Given the description of an element on the screen output the (x, y) to click on. 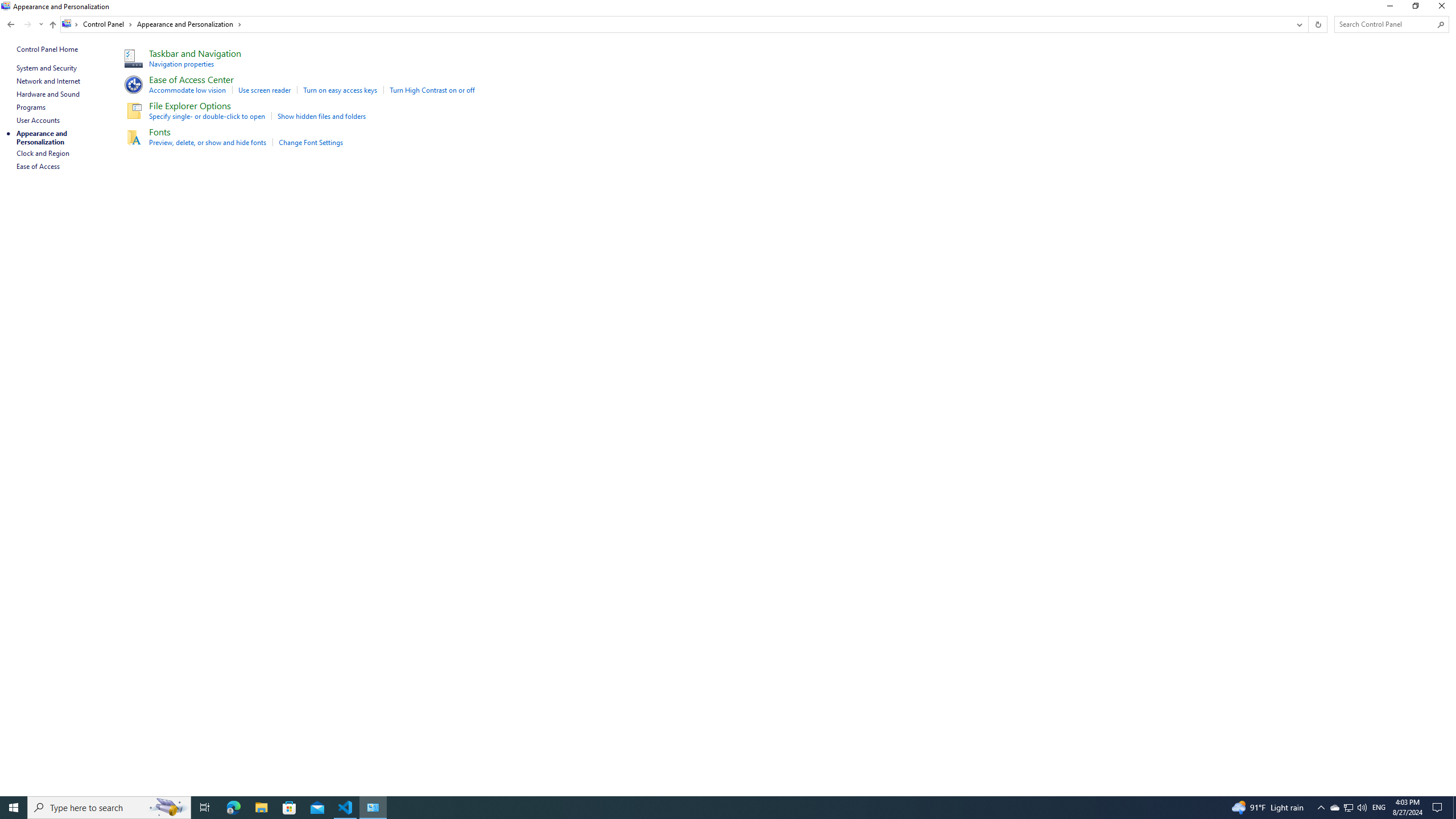
Turn on easy access keys (339, 89)
Control Panel Home (47, 49)
Show hidden files and folders (321, 116)
Refresh "Appearance and Personalization" (F5) (1316, 23)
Turn High Contrast on or off (432, 89)
Ease of Access (38, 166)
Appearance and Personalization (189, 23)
Ease of Access Center (191, 79)
Specify single- or double-click to open (207, 116)
Accommodate low vision (187, 89)
Hardware and Sound (48, 94)
Microsoft Store (289, 807)
Address band toolbar (1308, 23)
